Given the description of an element on the screen output the (x, y) to click on. 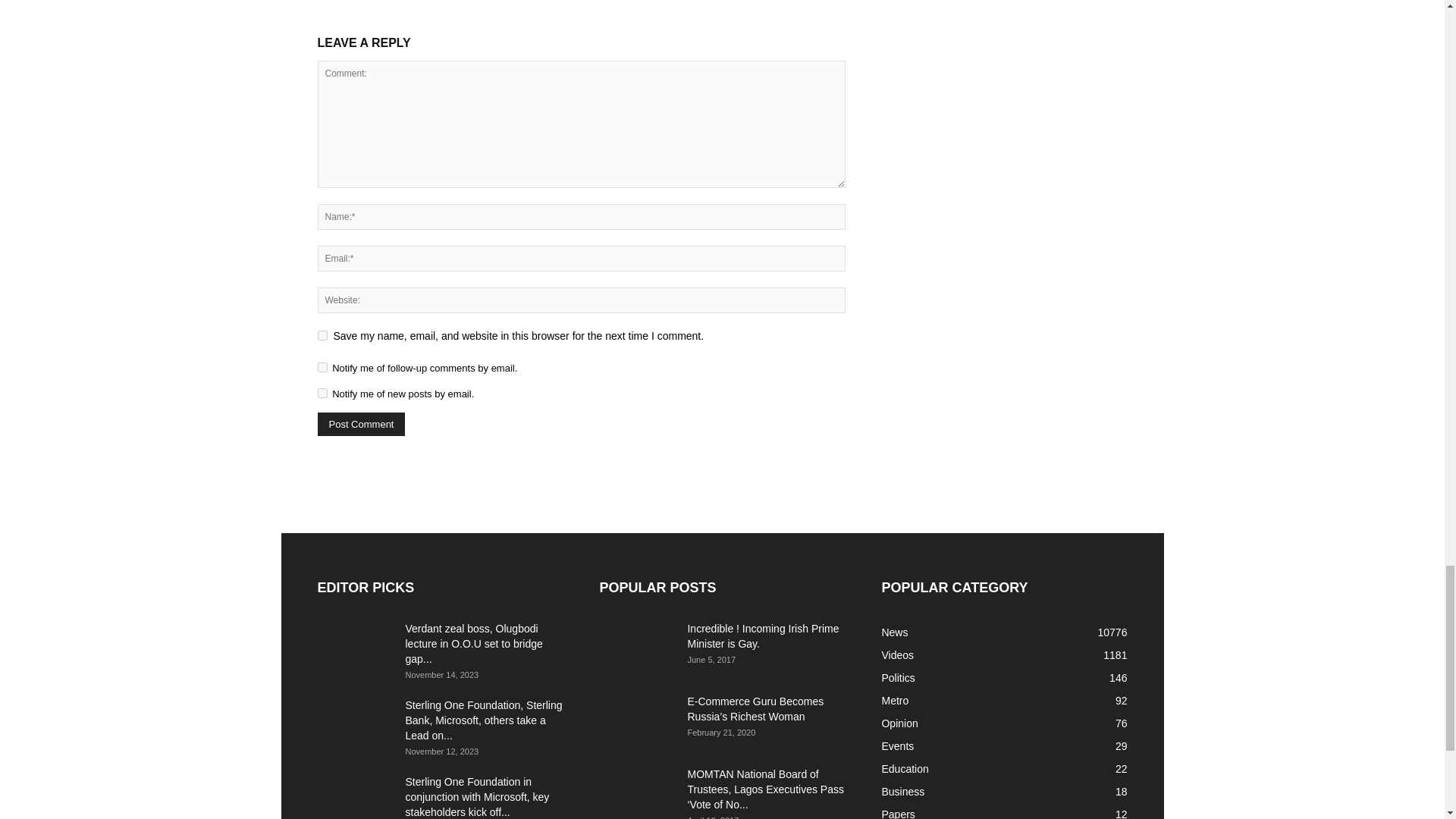
subscribe (321, 393)
yes (321, 335)
Post Comment (360, 423)
subscribe (321, 367)
